Given the description of an element on the screen output the (x, y) to click on. 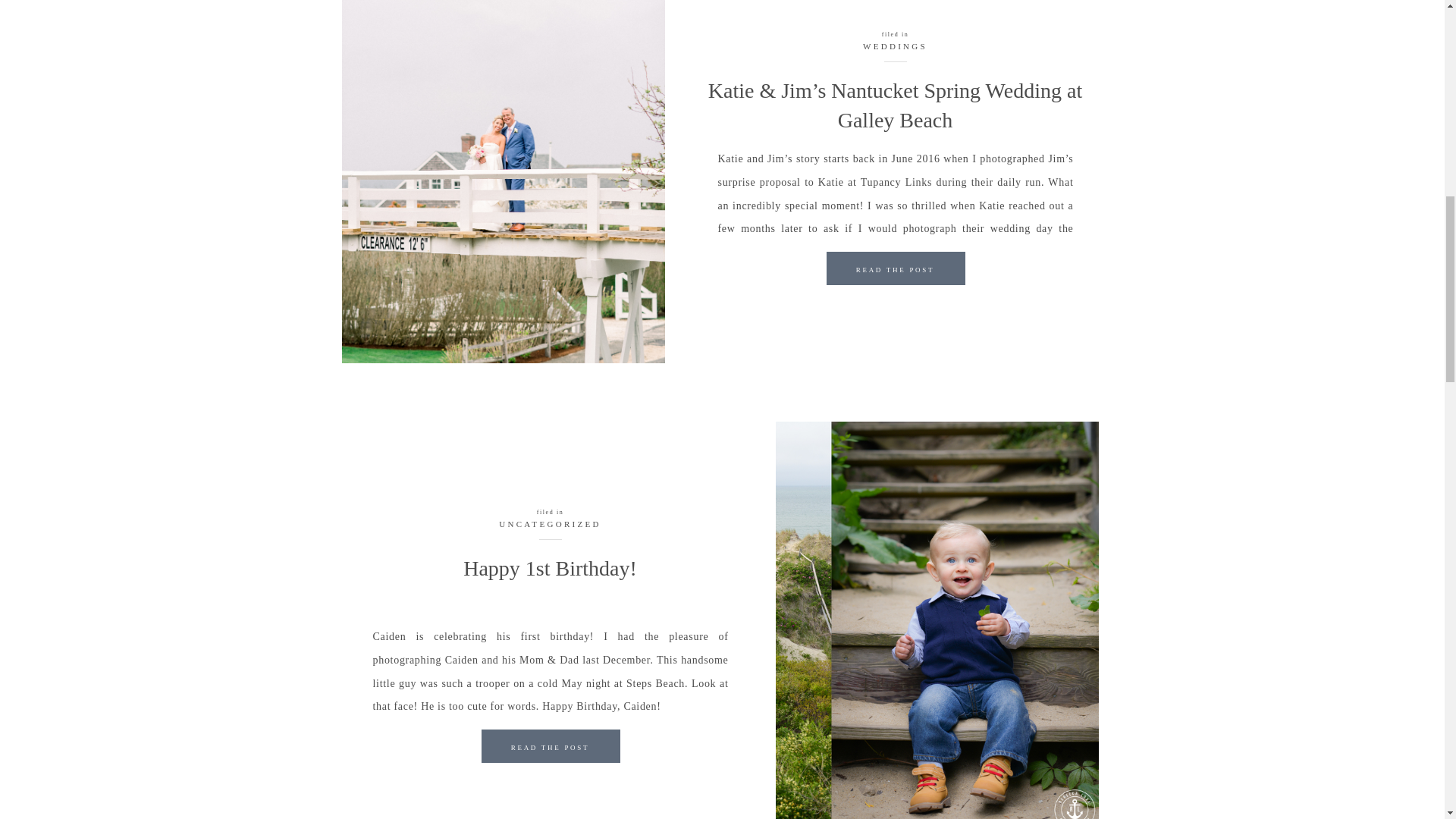
READ THE POST (549, 749)
Happy 1st Birthday! (549, 749)
READ THE POST (895, 272)
UNCATEGORIZED (550, 523)
WEDDINGS (895, 45)
Happy 1st Birthday! (550, 745)
Happy 1st Birthday! (550, 567)
